Given the description of an element on the screen output the (x, y) to click on. 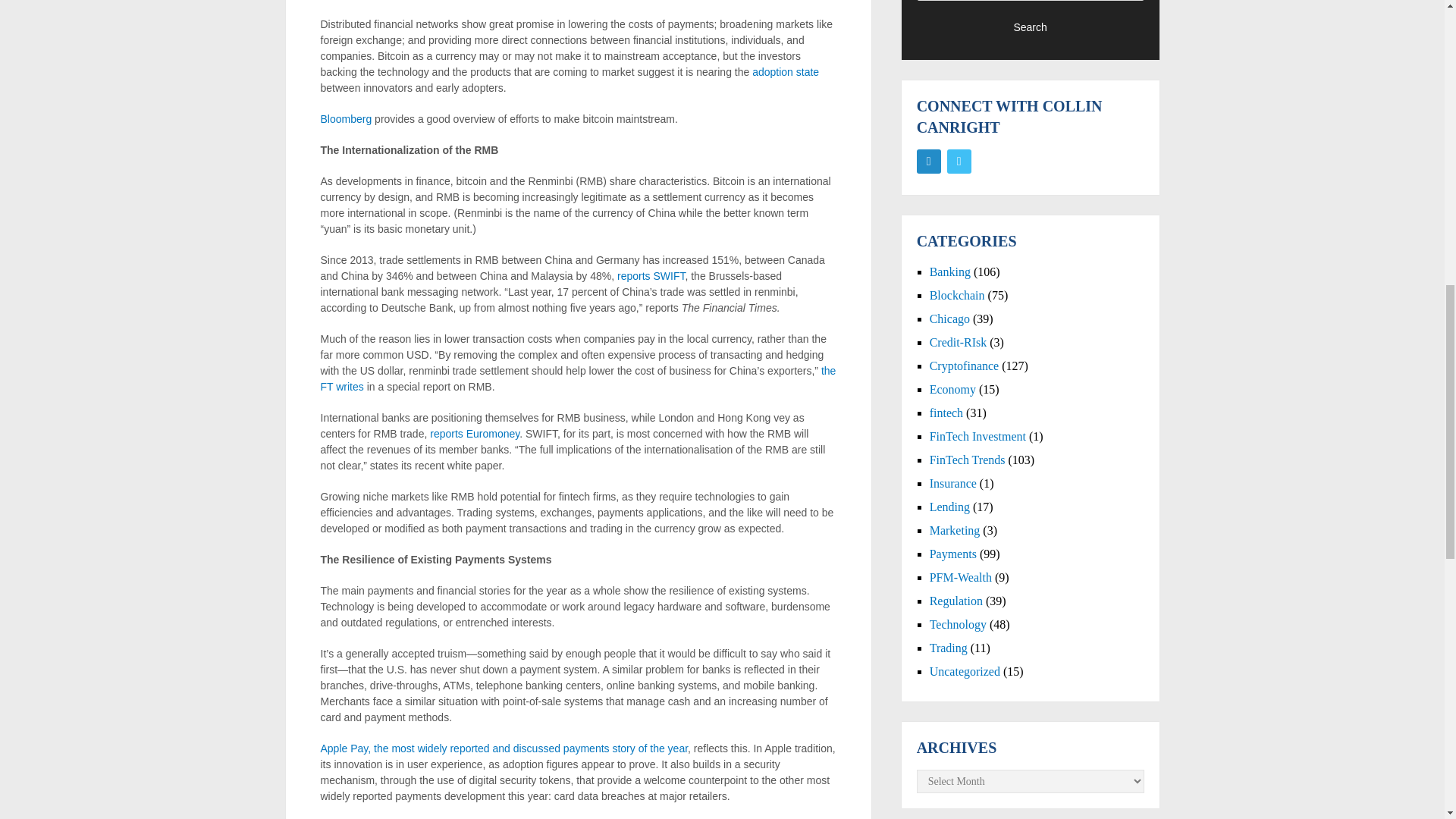
Twitter (959, 161)
the FT writes (577, 378)
reports SWIFT (650, 275)
adoption state (785, 71)
LinkedIn (928, 161)
reports Euromoney (474, 433)
Bloomberg (345, 119)
